Given the description of an element on the screen output the (x, y) to click on. 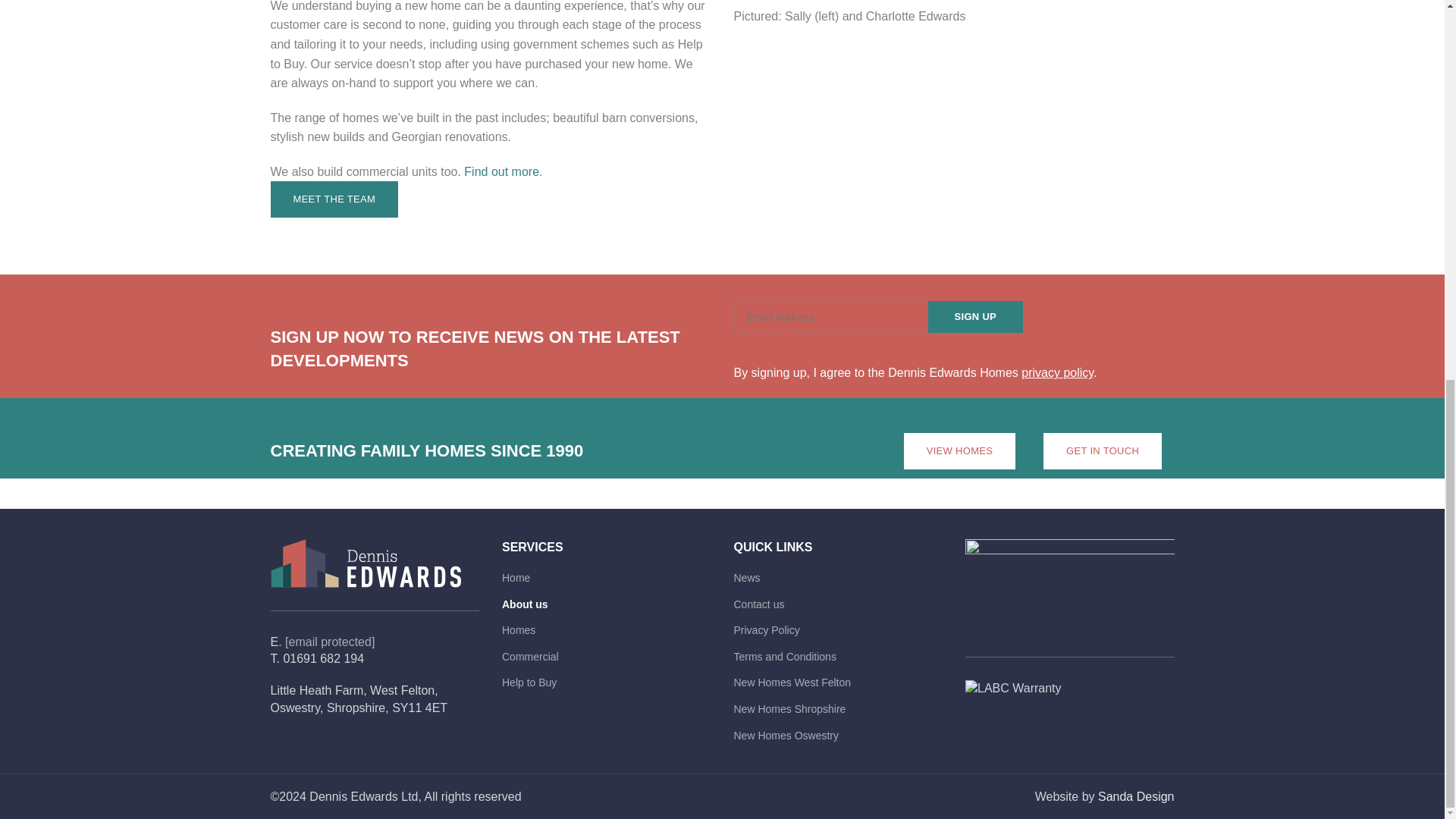
Sign up (975, 316)
VIEW HOMES (960, 451)
Meet the Team (333, 198)
MEET THE TEAM (333, 198)
privacy policy (1057, 372)
Sign up (975, 316)
Find out more (501, 171)
